Given the description of an element on the screen output the (x, y) to click on. 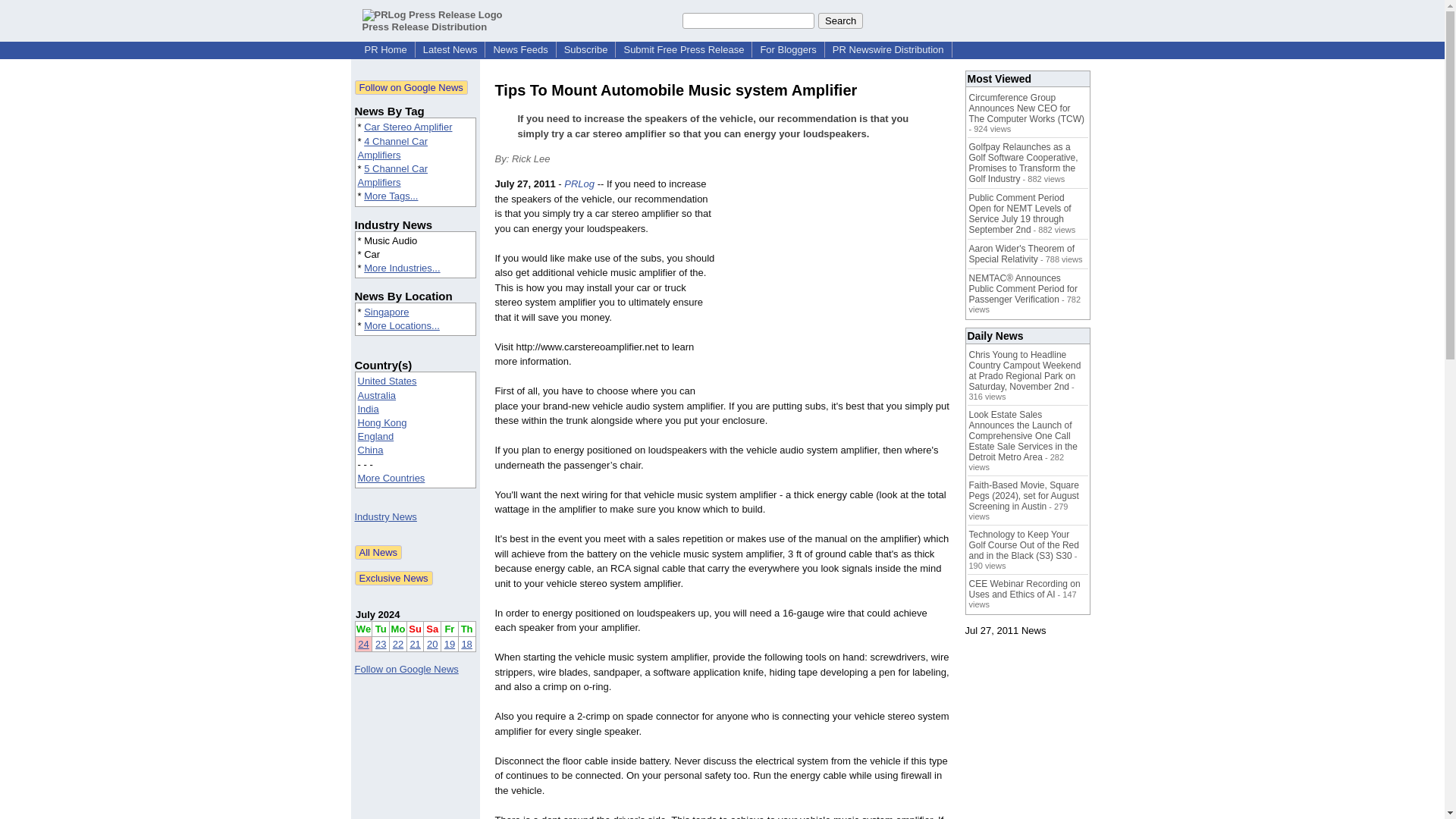
All News (379, 552)
Australia (377, 395)
20 (432, 644)
PR Newswire Distribution (888, 49)
More Countries (391, 478)
Follow on Google News (406, 668)
PRLog (579, 183)
5 Channel Car Amplifiers (393, 175)
23 (380, 644)
4 Channel Car Amplifiers (393, 147)
India (368, 408)
Exclusive News (393, 577)
Press Release Distribution (432, 20)
Exclusive News (393, 577)
July 2024 (377, 614)
